Given the description of an element on the screen output the (x, y) to click on. 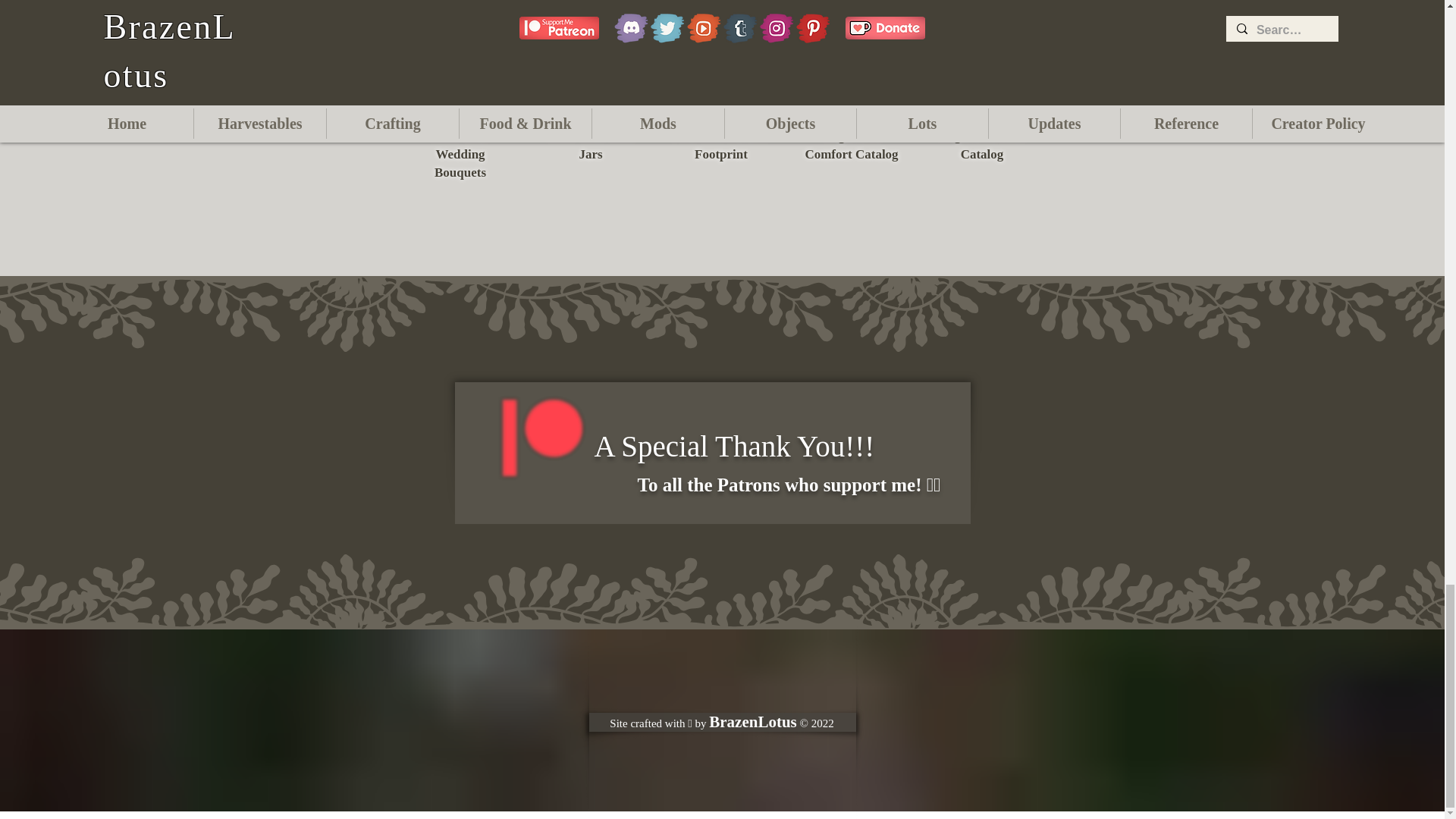
A Special Thank You!!! (734, 445)
mod-Store-Seed-Jars-Sims-4-CC-Mods.png (591, 63)
store your flower bouquets.png (460, 63)
sims-4-jeu-de-base-game-icones-icons1-19.png (852, 63)
sims-4-jeu-de-base-game-icones-icons1-23.png (982, 63)
